Given the description of an element on the screen output the (x, y) to click on. 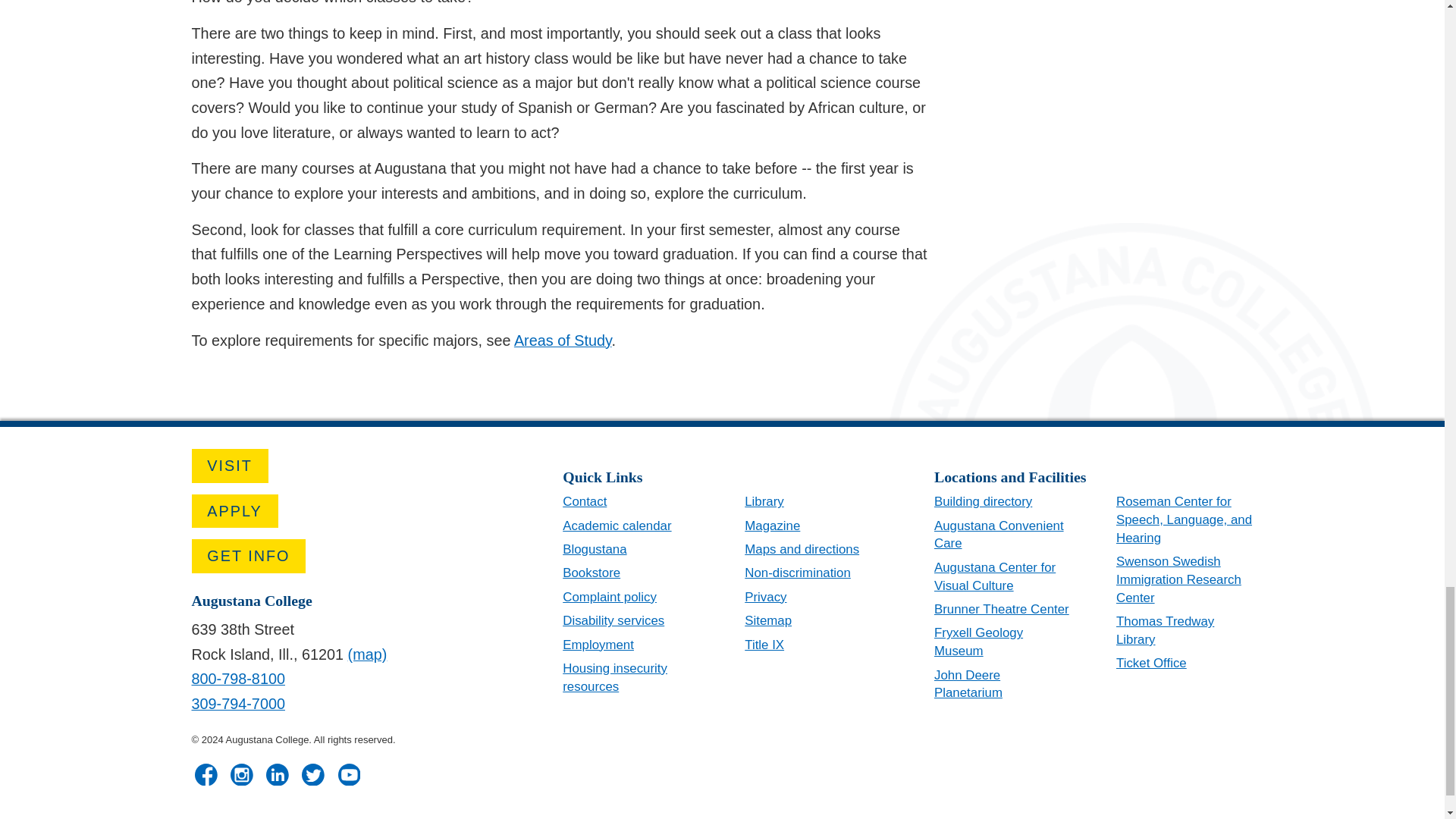
YouTube Round icon with YouTube logo (349, 774)
Instagram Round icon with Instagram Logo (241, 774)
Facebook Icon Circle with Facebook's F (205, 774)
Twitter Round icon with Twitter bird. (312, 774)
LinkedIn Round Icon with LinkedIn logo (277, 774)
